Given the description of an element on the screen output the (x, y) to click on. 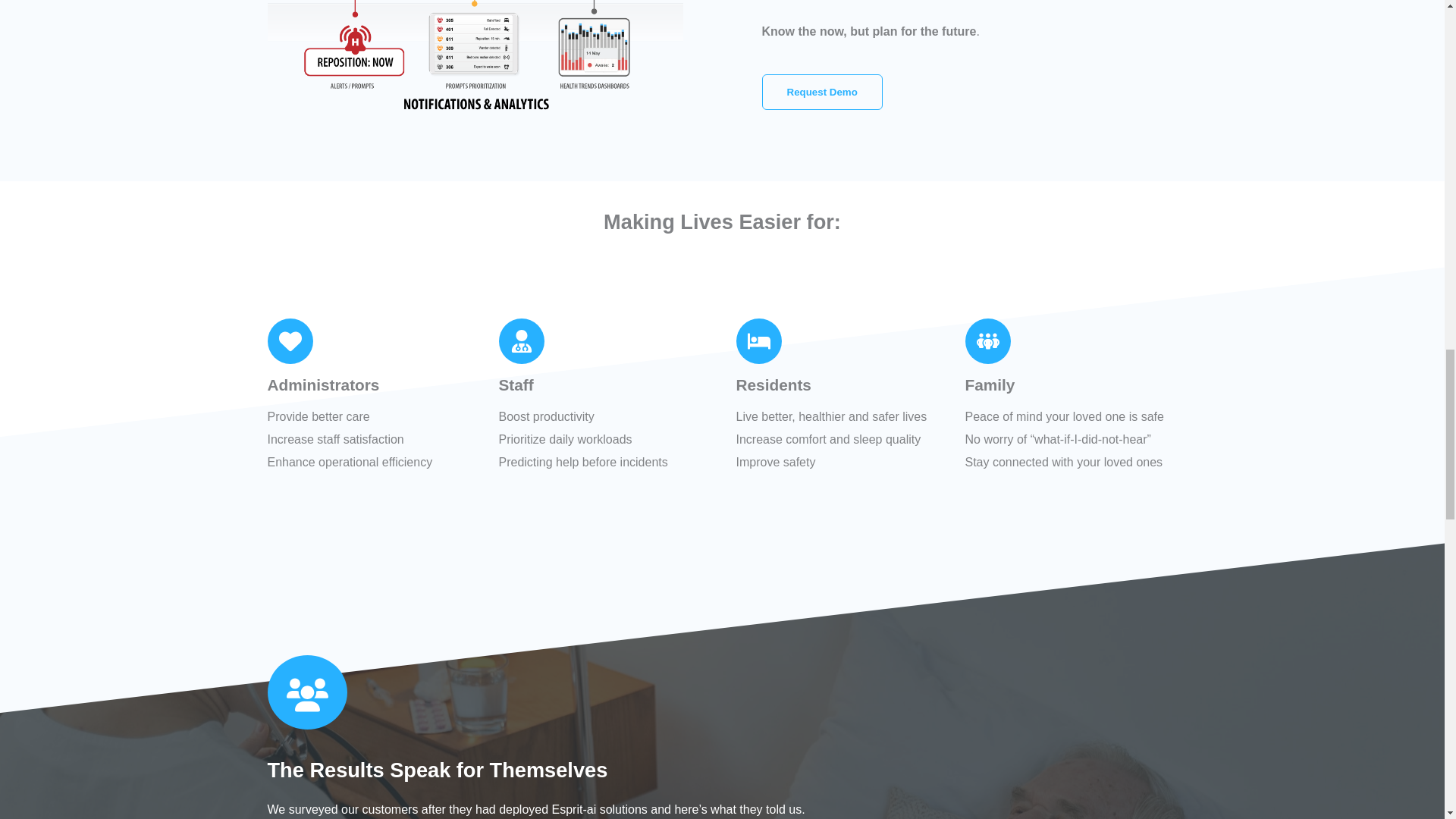
esprit-ai-process-full-1000 (474, 60)
Request Demo (821, 91)
